Given the description of an element on the screen output the (x, y) to click on. 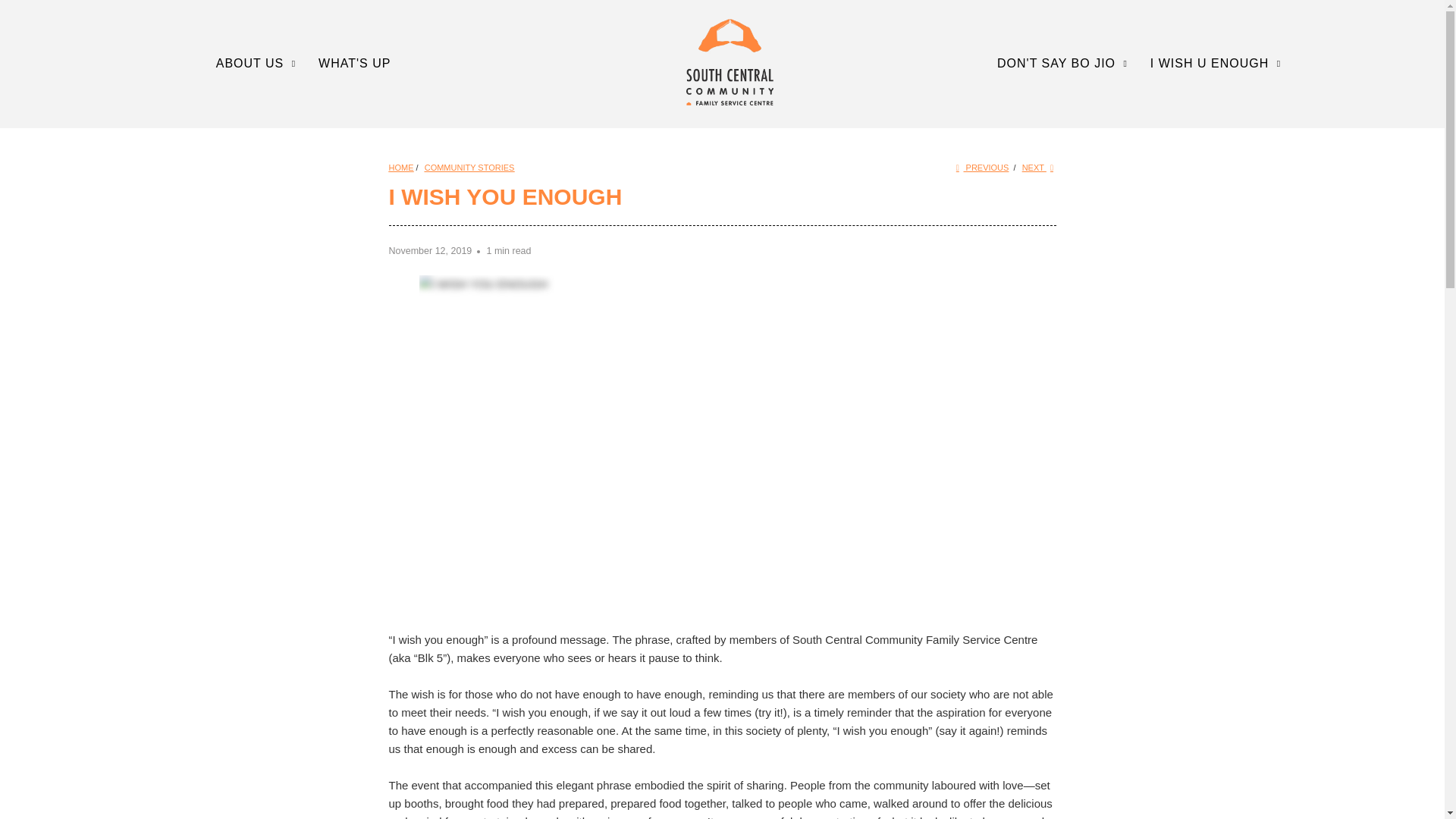
South Central Community Family Service Centre (729, 62)
ABOUT US (257, 63)
South Central Community Family Service Centre (400, 166)
WHAT'S UP (354, 63)
I WISH U ENOUGH (1217, 63)
Community Stories (470, 166)
DON'T SAY BO JIO (1064, 63)
